Given the description of an element on the screen output the (x, y) to click on. 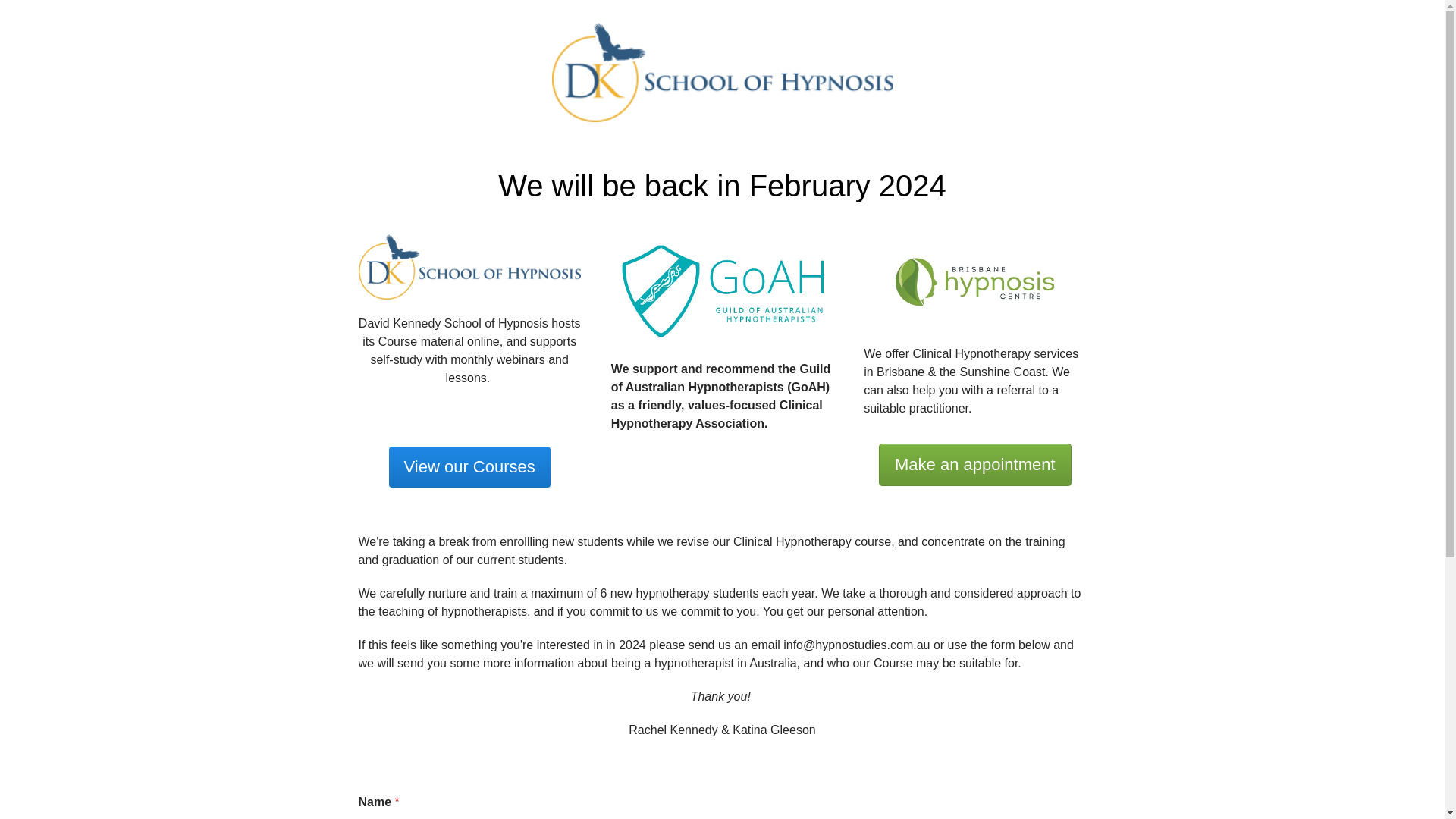
Make an appointment Element type: text (974, 464)
View our Courses Element type: text (469, 466)
